Given the description of an element on the screen output the (x, y) to click on. 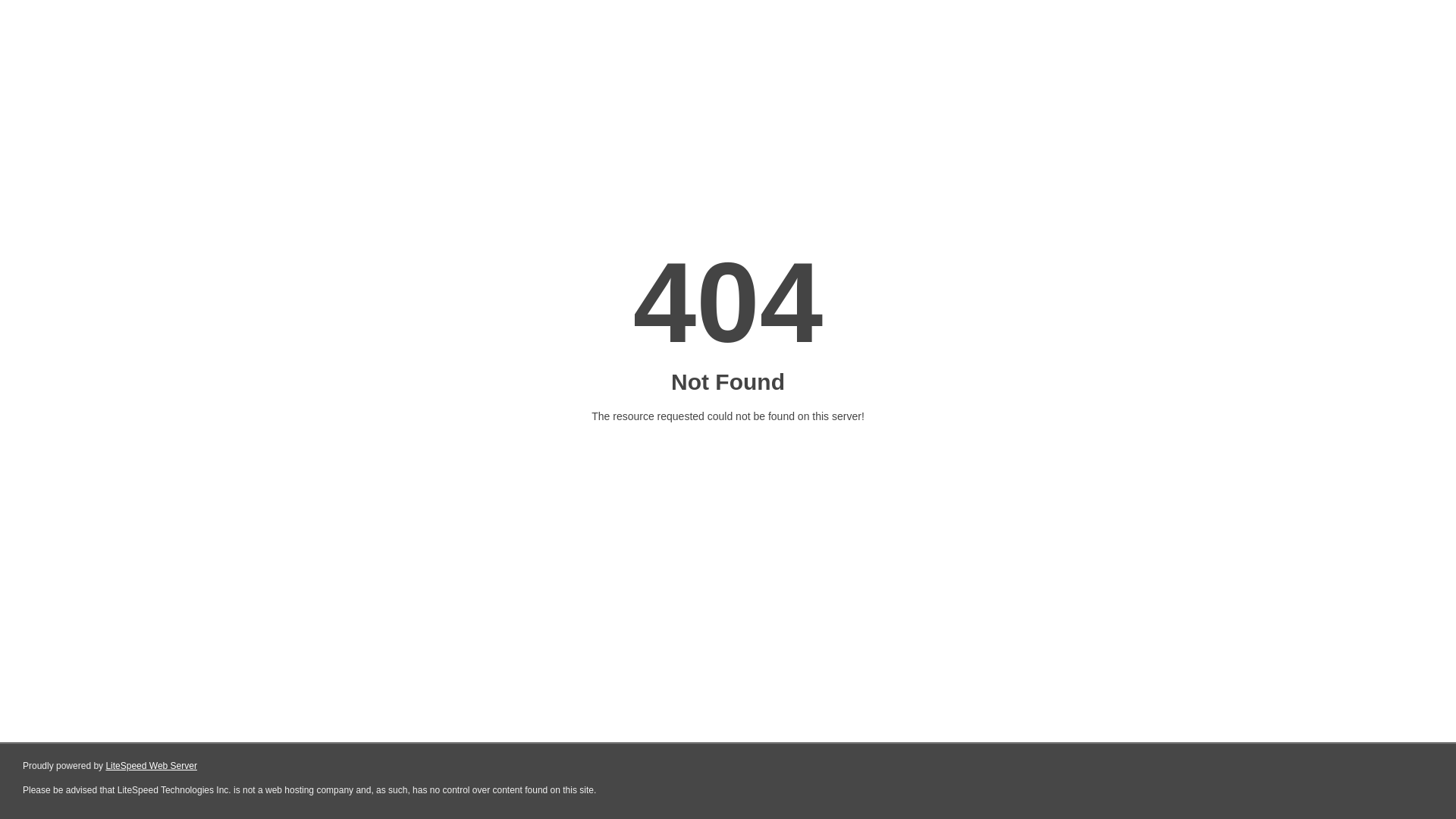
LiteSpeed Web Server Element type: text (151, 765)
